Given the description of an element on the screen output the (x, y) to click on. 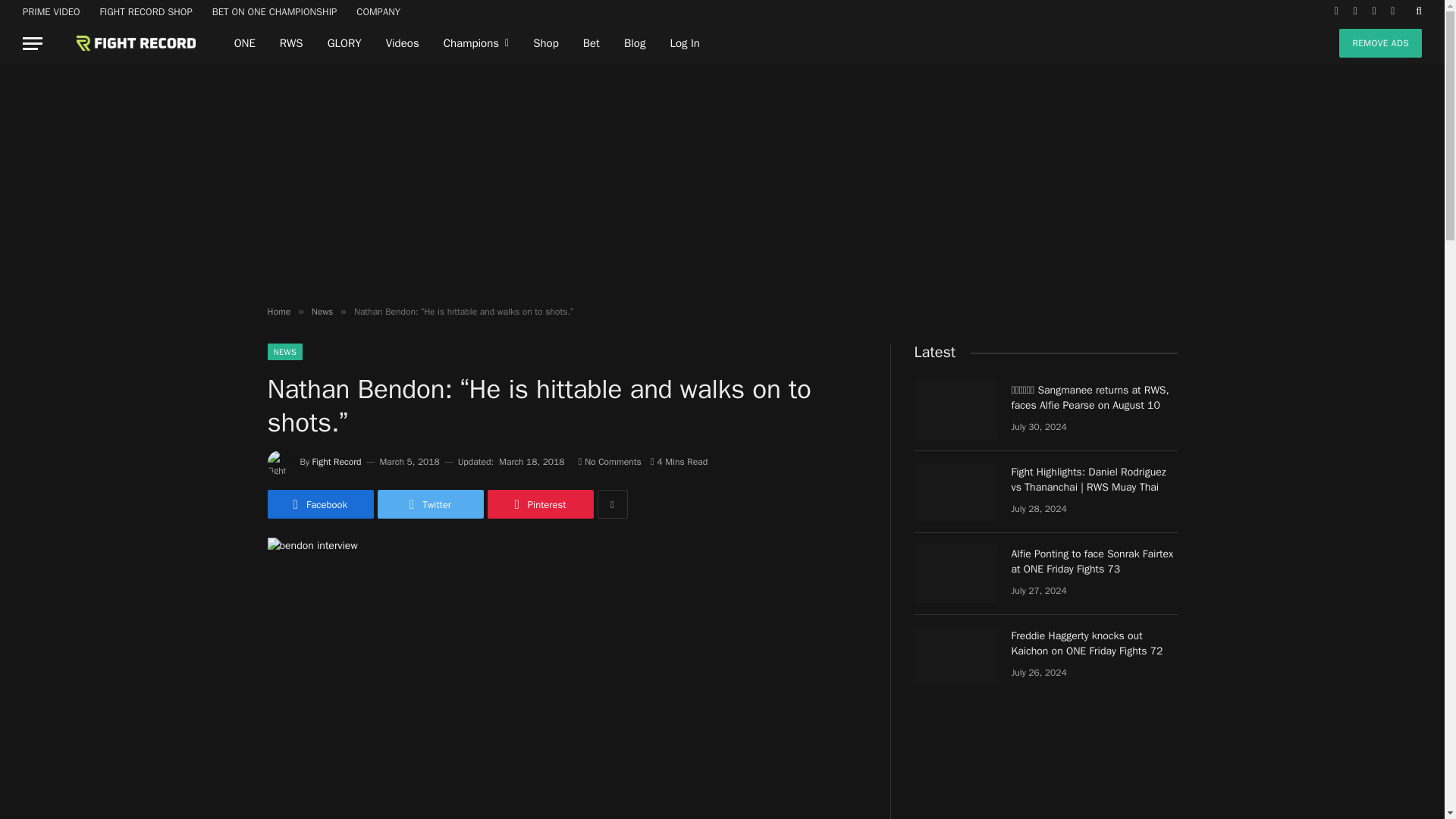
Fight Record (124, 42)
FIGHT RECORD SHOP (146, 11)
Facebook (319, 503)
YouTube (1392, 11)
News (322, 311)
Twitter (430, 503)
Bet (590, 42)
RWS (291, 42)
Pinterest (539, 503)
Show More Social Sharing (611, 503)
Share on Pinterest (539, 503)
NEWS (284, 351)
REMOVE ADS (1380, 42)
Posts by Fight Record (337, 461)
Shop (545, 42)
